Given the description of an element on the screen output the (x, y) to click on. 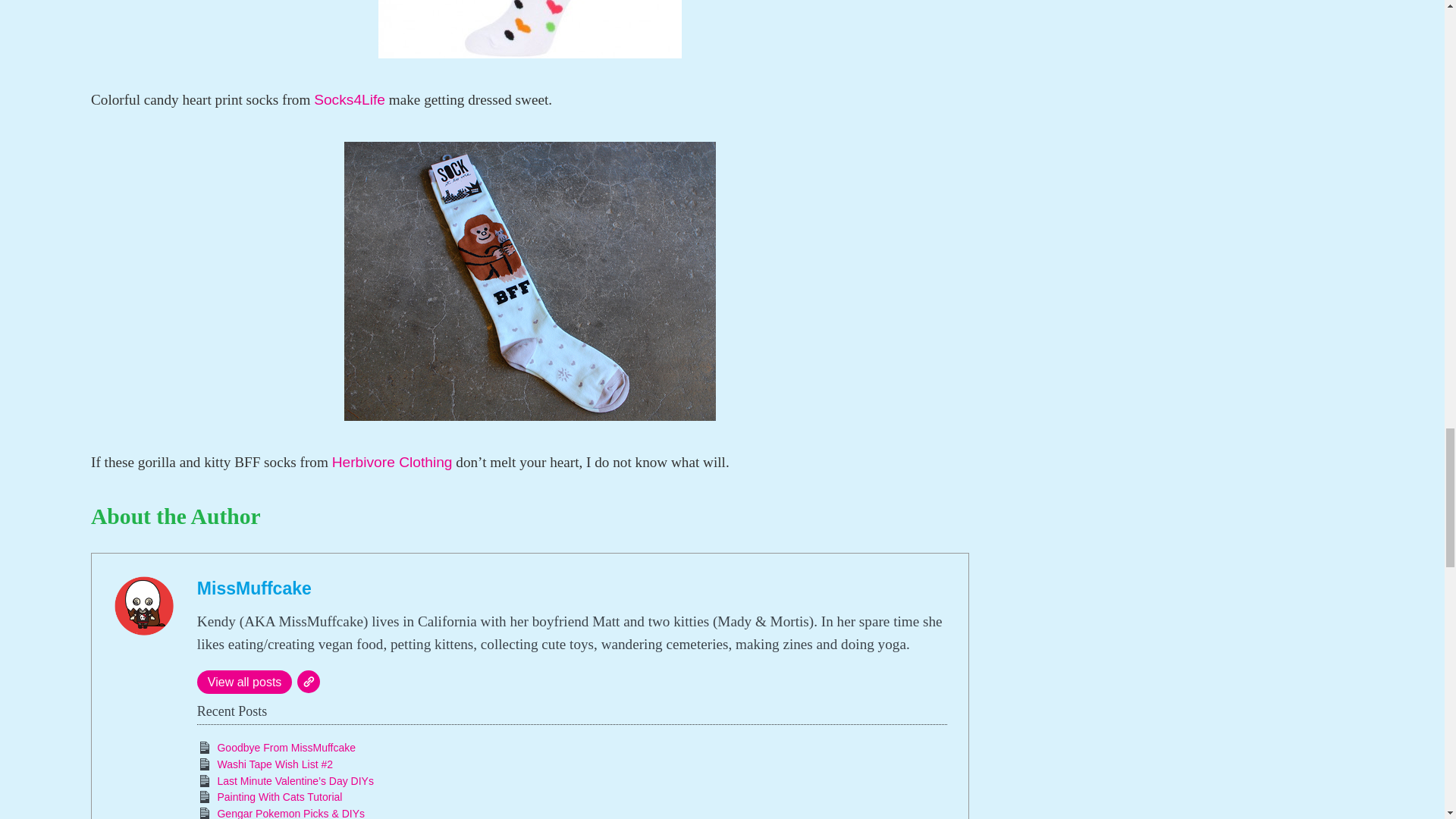
View all posts (244, 681)
Painting With Cats Tutorial (279, 797)
MissMuffcake (253, 588)
Goodbye From MissMuffcake (285, 747)
